Given the description of an element on the screen output the (x, y) to click on. 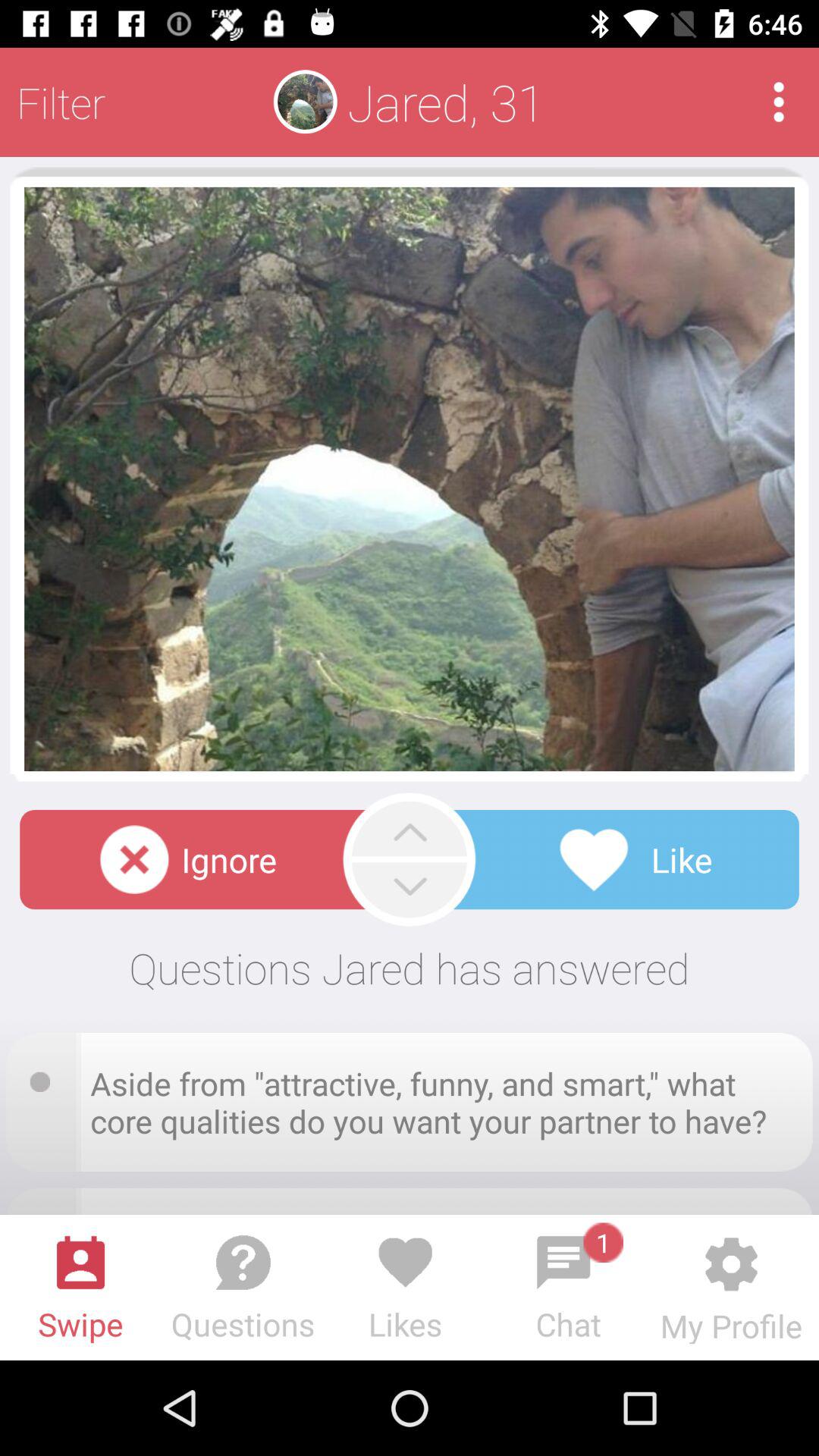
turn on icon next to aside from attractive item (45, 1076)
